Given the description of an element on the screen output the (x, y) to click on. 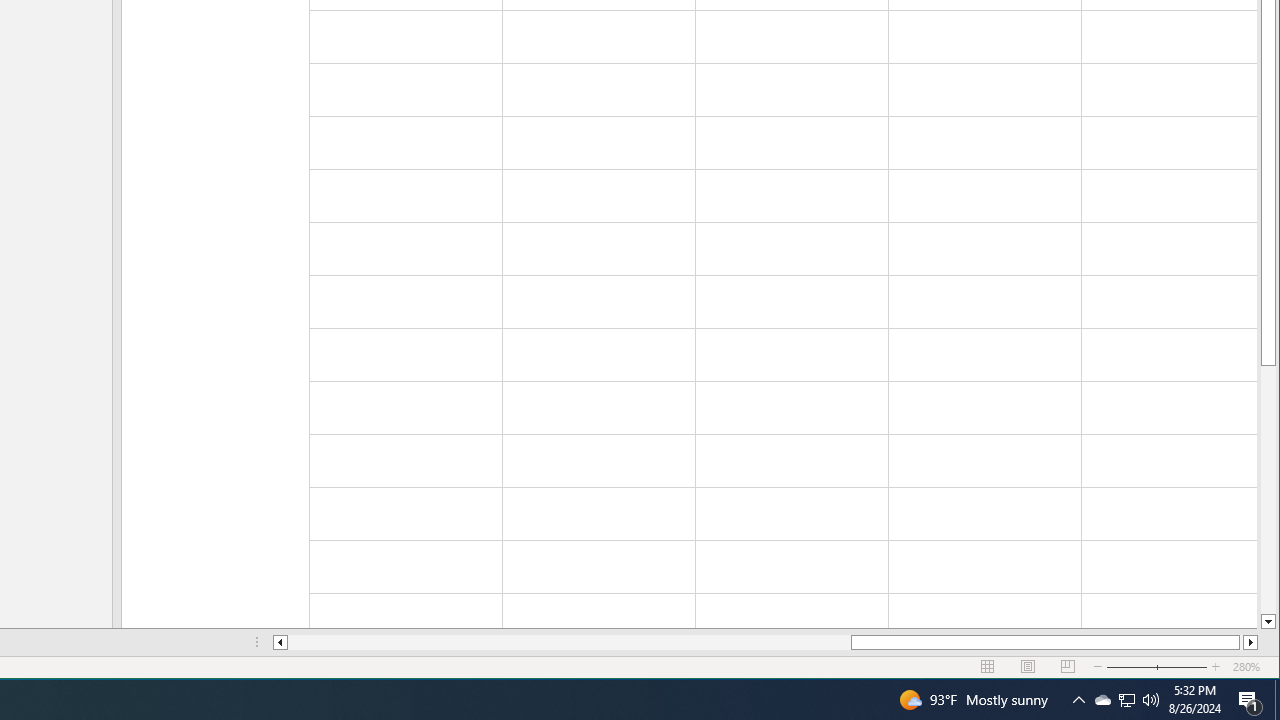
Page Break Preview (1068, 667)
Class: NetUIScrollBar (765, 642)
Normal (987, 667)
Q2790: 100% (1151, 699)
Notification Chevron (1078, 699)
Page Layout (1028, 667)
Show desktop (1277, 699)
Action Center, 1 new notification (1250, 699)
Page down (1126, 699)
Zoom (1268, 489)
Zoom Out (1157, 667)
